Given the description of an element on the screen output the (x, y) to click on. 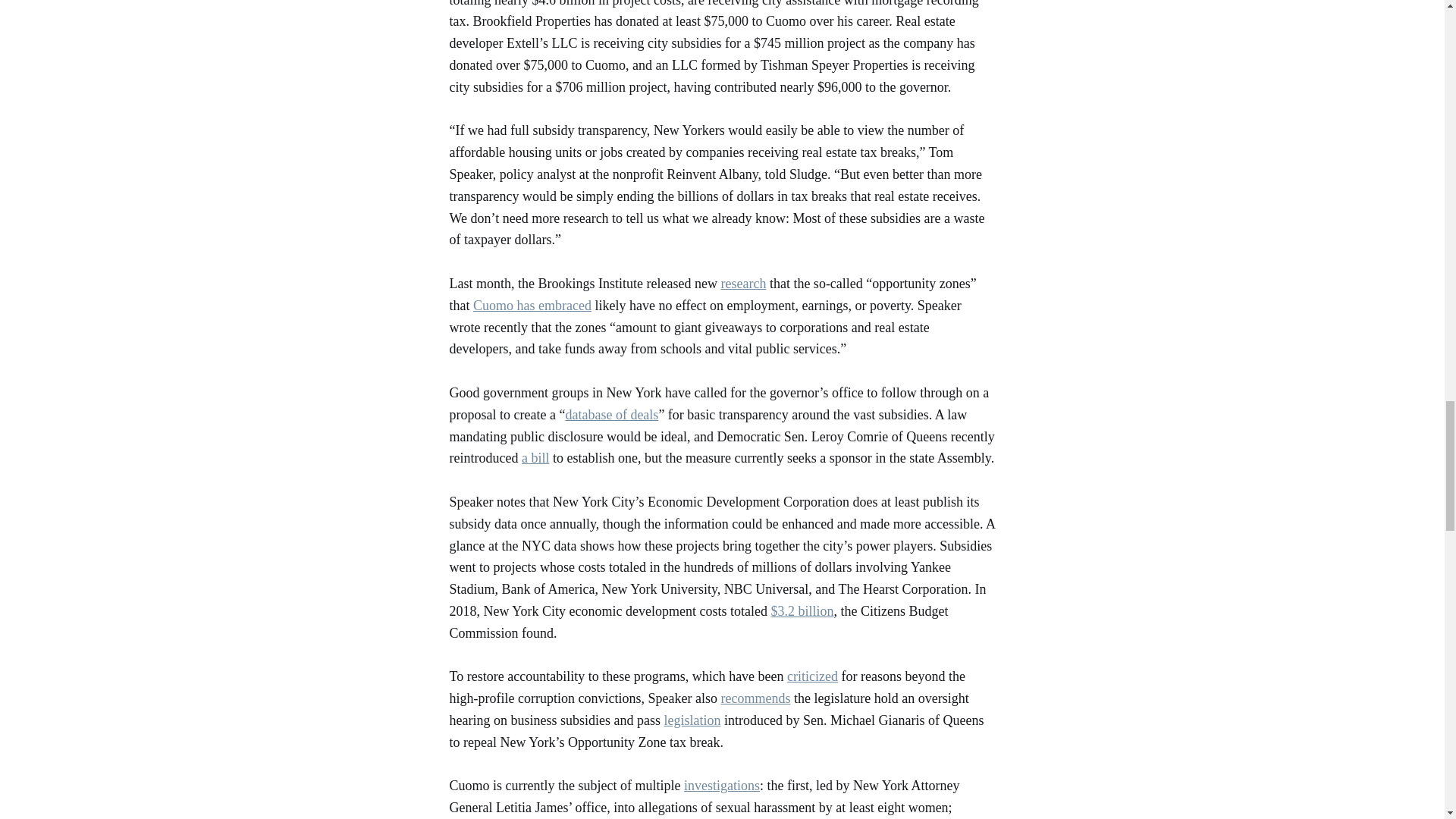
recommends (755, 698)
investigations (722, 785)
legislation (691, 720)
a bill (535, 458)
research (742, 283)
database of deals (611, 414)
Cuomo has embraced (532, 305)
criticized (812, 676)
